Given the description of an element on the screen output the (x, y) to click on. 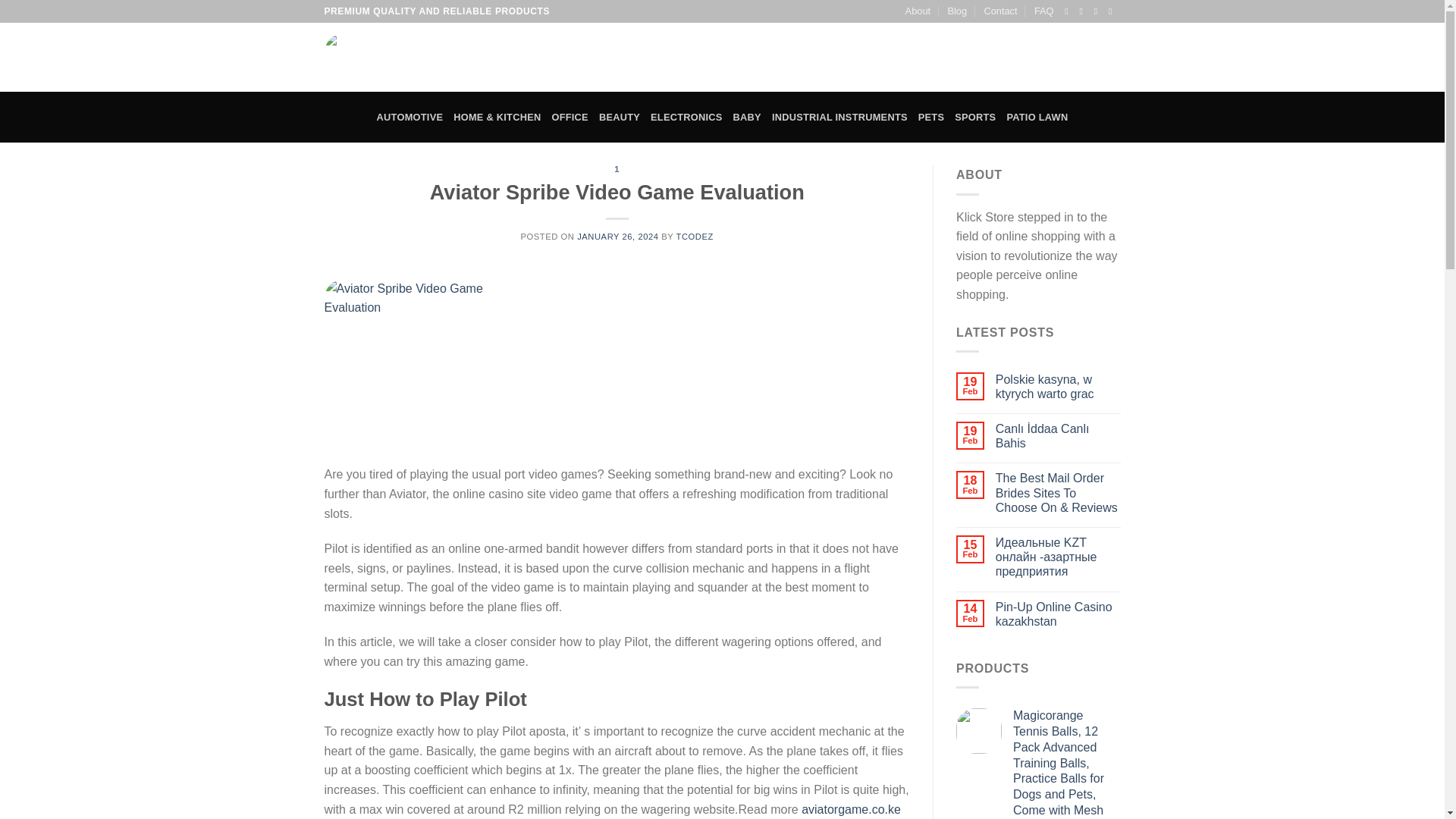
INDUSTRIAL INSTRUMENTS (839, 116)
Klick Store - Shopping That Brings Joy (409, 57)
Aviator Spribe Video Game Evaluation (409, 364)
About (917, 11)
ELECTRONICS (686, 116)
Contact (1000, 11)
aviatorgame.co.ke (851, 809)
TCODEZ (695, 235)
AUTOMOTIVE (410, 116)
PATIO LAWN (1036, 116)
JANUARY 26, 2024 (617, 235)
Search (942, 57)
